Given the description of an element on the screen output the (x, y) to click on. 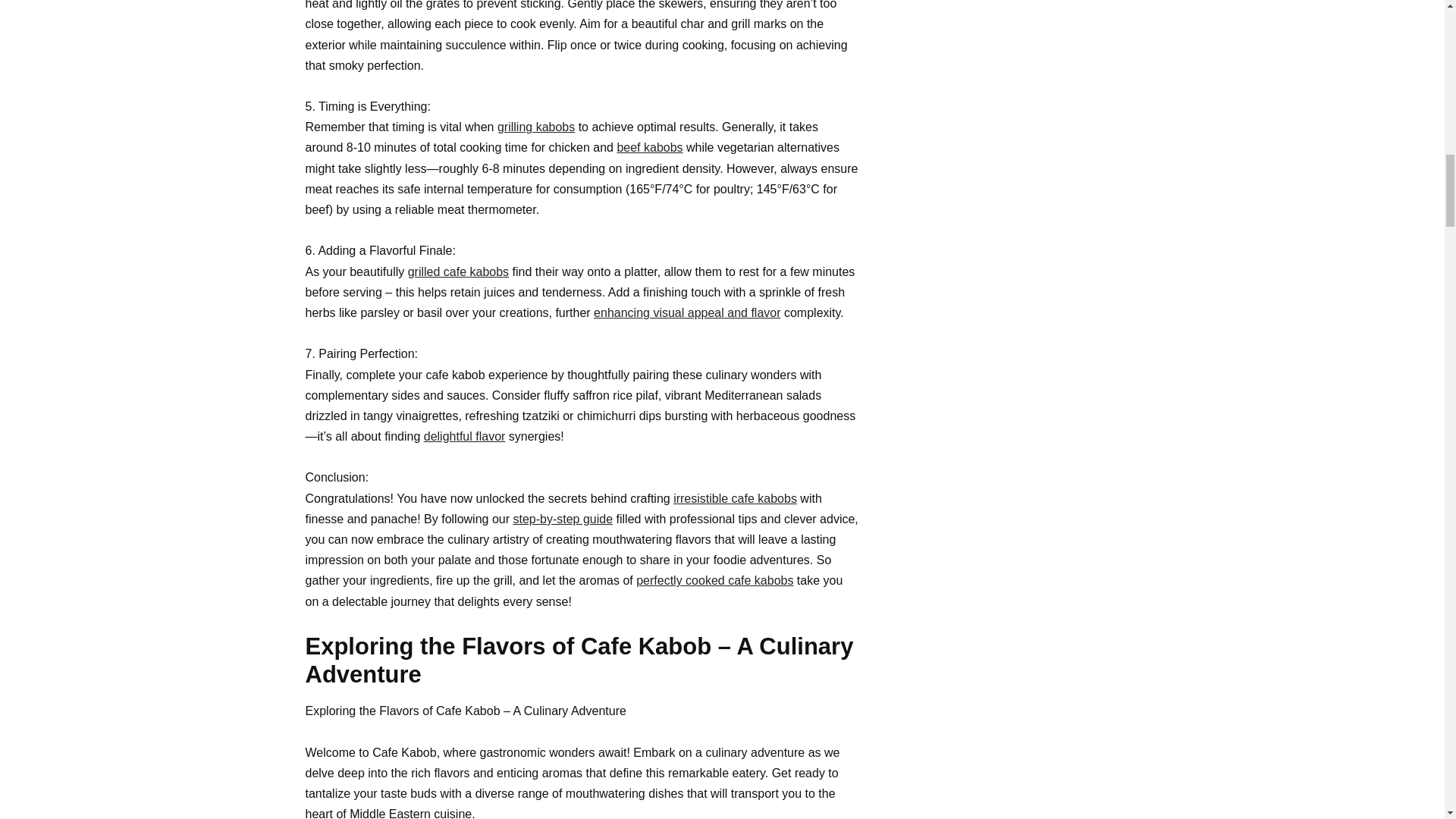
beef kabobs (648, 146)
enhancing visual appeal and flavor (687, 312)
delightful flavor (464, 436)
step-by-step guide (562, 518)
perfectly cooked cafe kabobs (714, 580)
irresistible cafe kabobs (734, 498)
grilling kabobs (536, 126)
grilled cafe kabobs (457, 271)
